Given the description of an element on the screen output the (x, y) to click on. 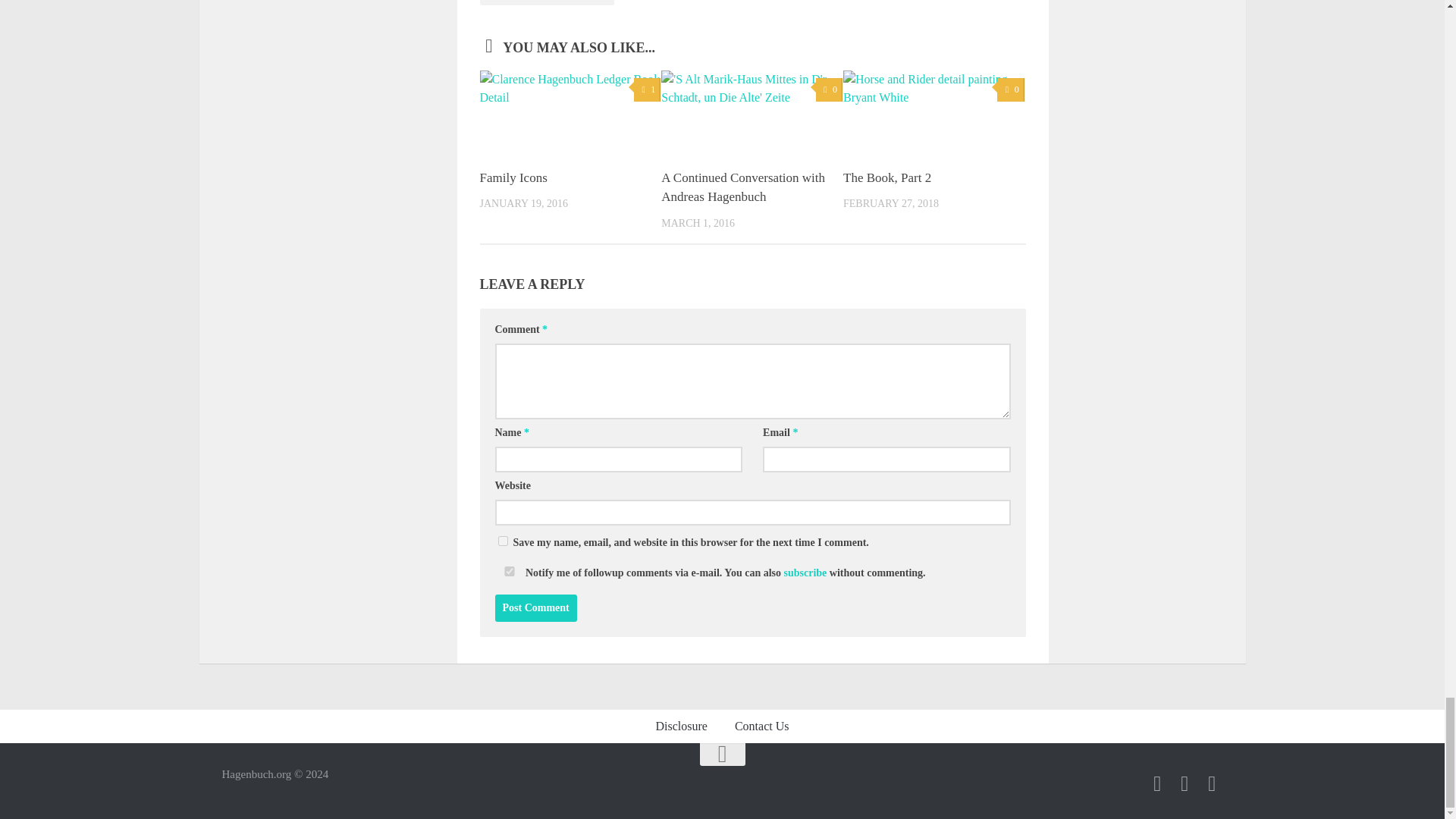
1 (647, 89)
0 (1010, 89)
A Continued Conversation with Andreas Hagenbuch (743, 187)
Family Icons (513, 177)
Post Comment (535, 607)
yes (508, 571)
Washingtonville Lutheran Church (545, 2)
0 (829, 89)
yes (501, 541)
